Given the description of an element on the screen output the (x, y) to click on. 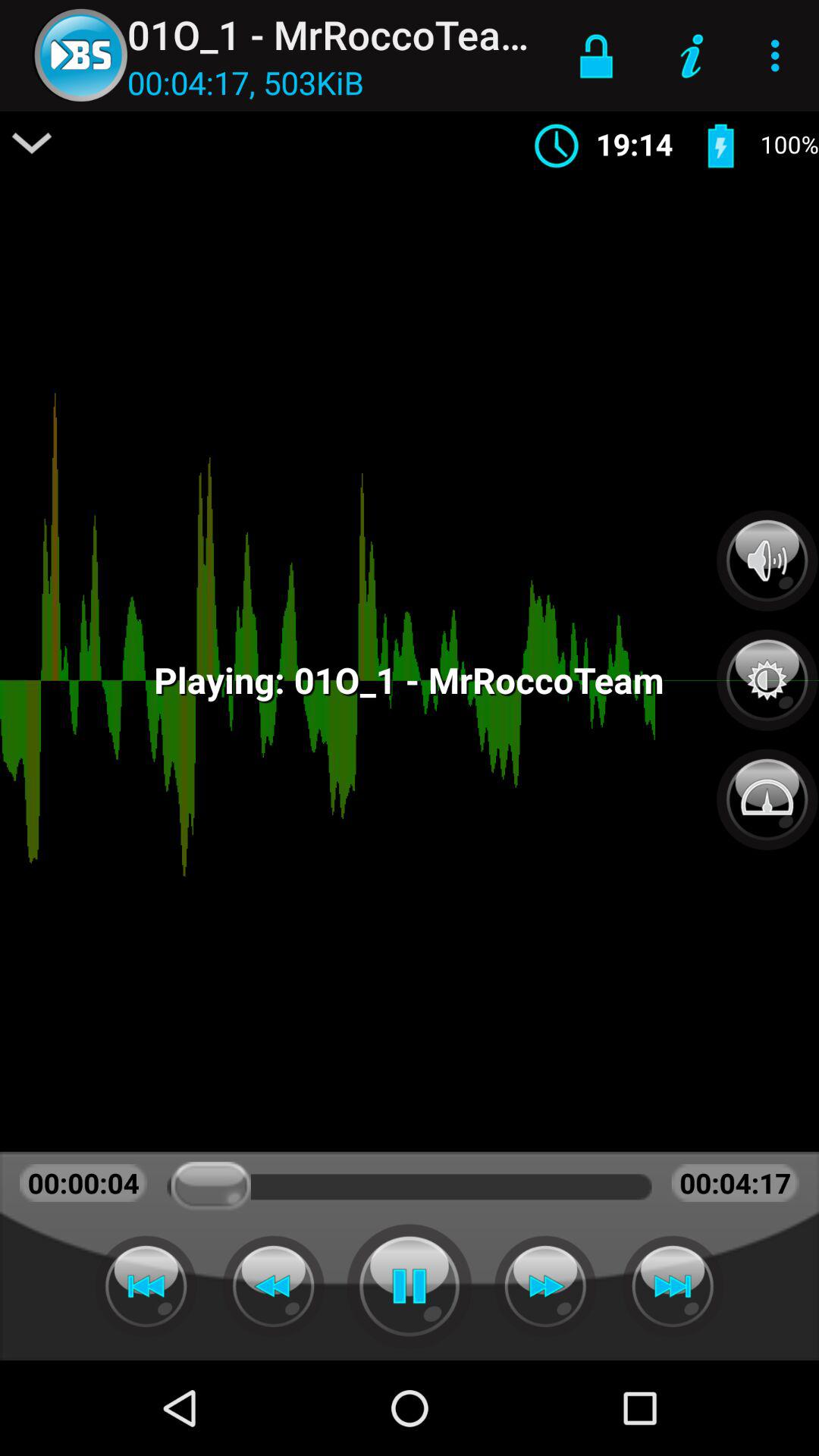
press the icon next to the 00 04 17 item (31, 143)
